Given the description of an element on the screen output the (x, y) to click on. 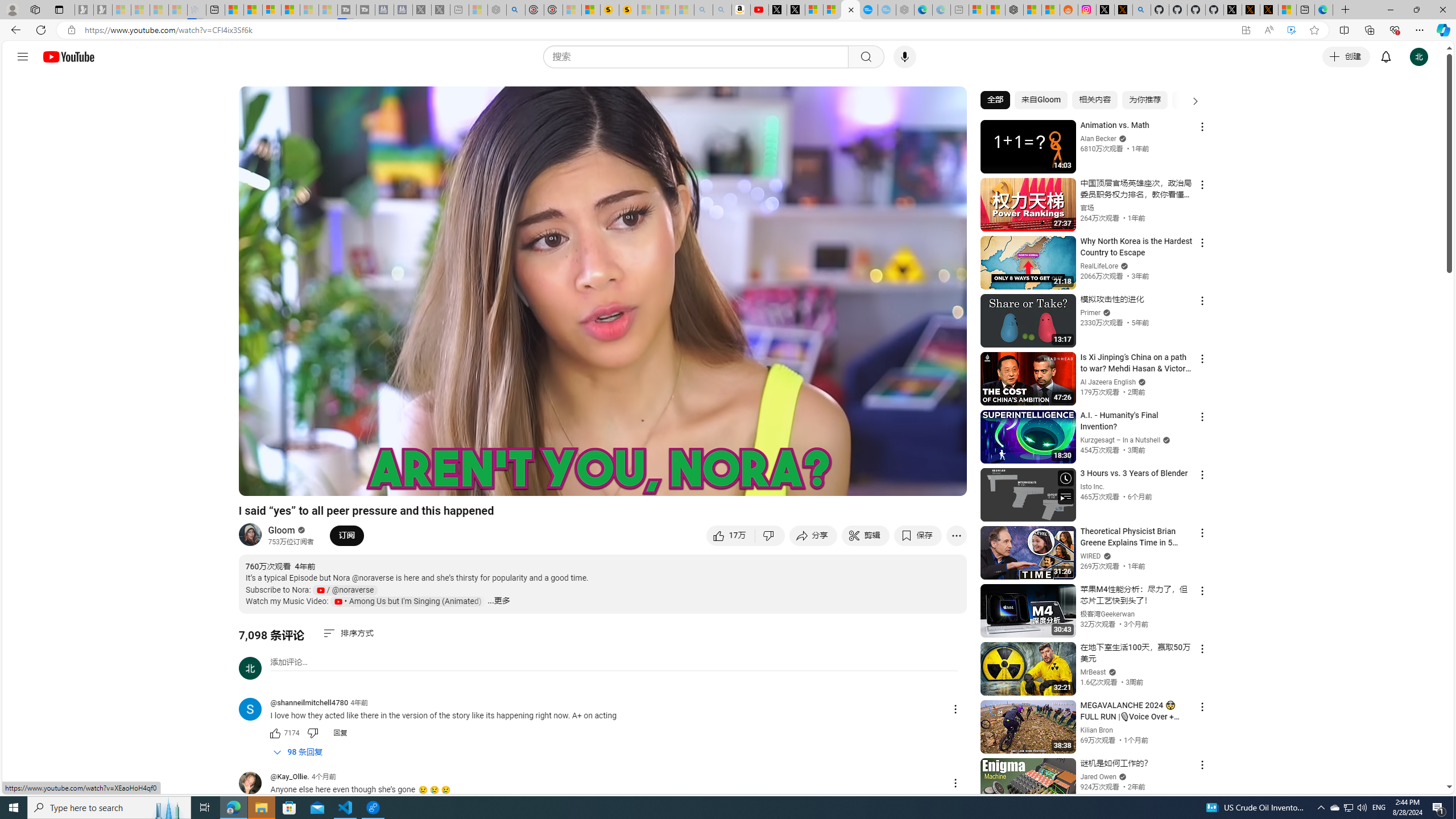
github - Search (1142, 9)
